Given the description of an element on the screen output the (x, y) to click on. 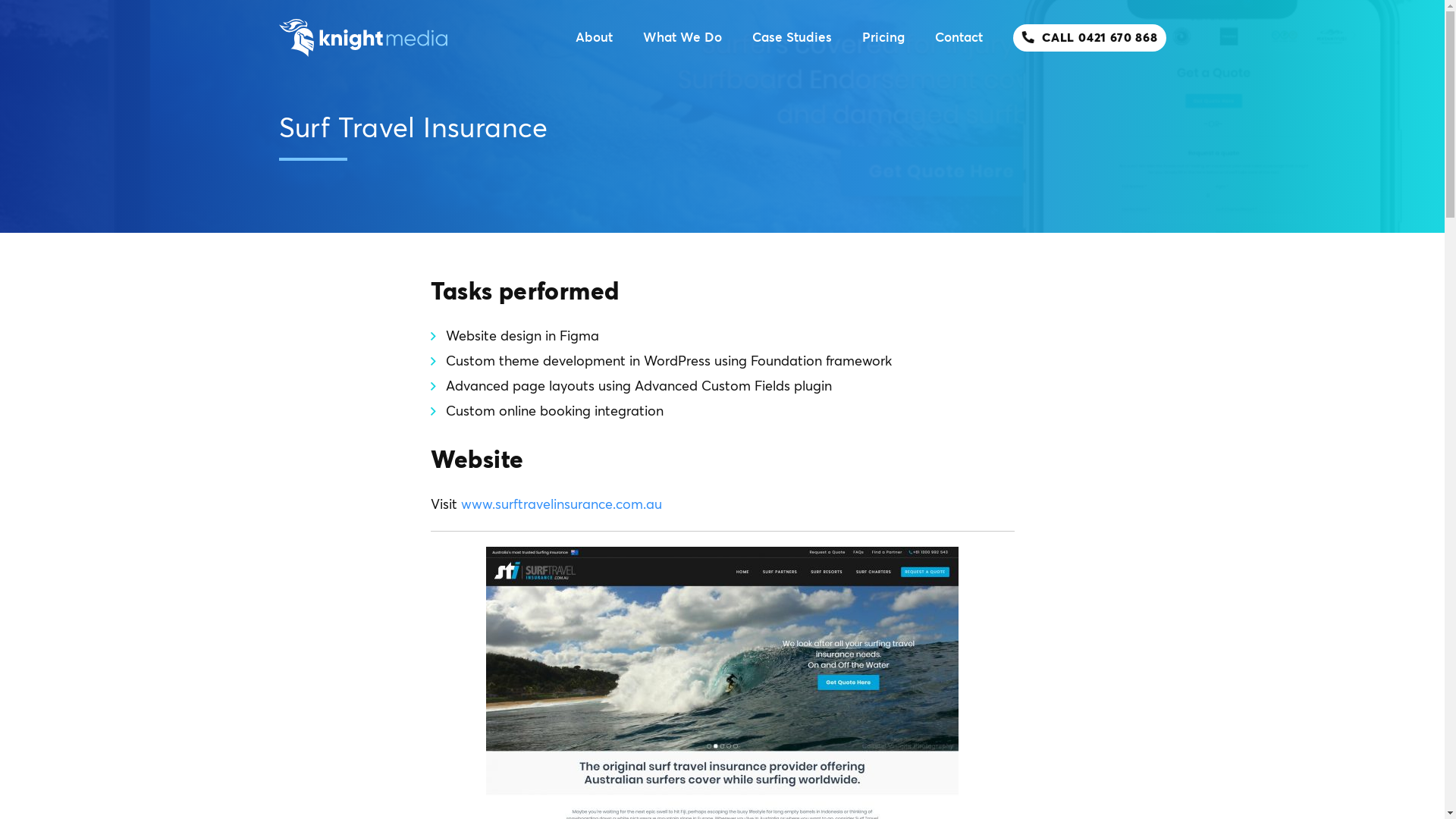
Case Studies Element type: text (791, 38)
www.surftravelinsurance.com.au Element type: text (561, 504)
CALL 0421 670 868 Element type: text (1089, 37)
Contact Element type: text (958, 38)
Pricing Element type: text (883, 38)
What We Do Element type: text (682, 38)
About Element type: text (593, 38)
